Given the description of an element on the screen output the (x, y) to click on. 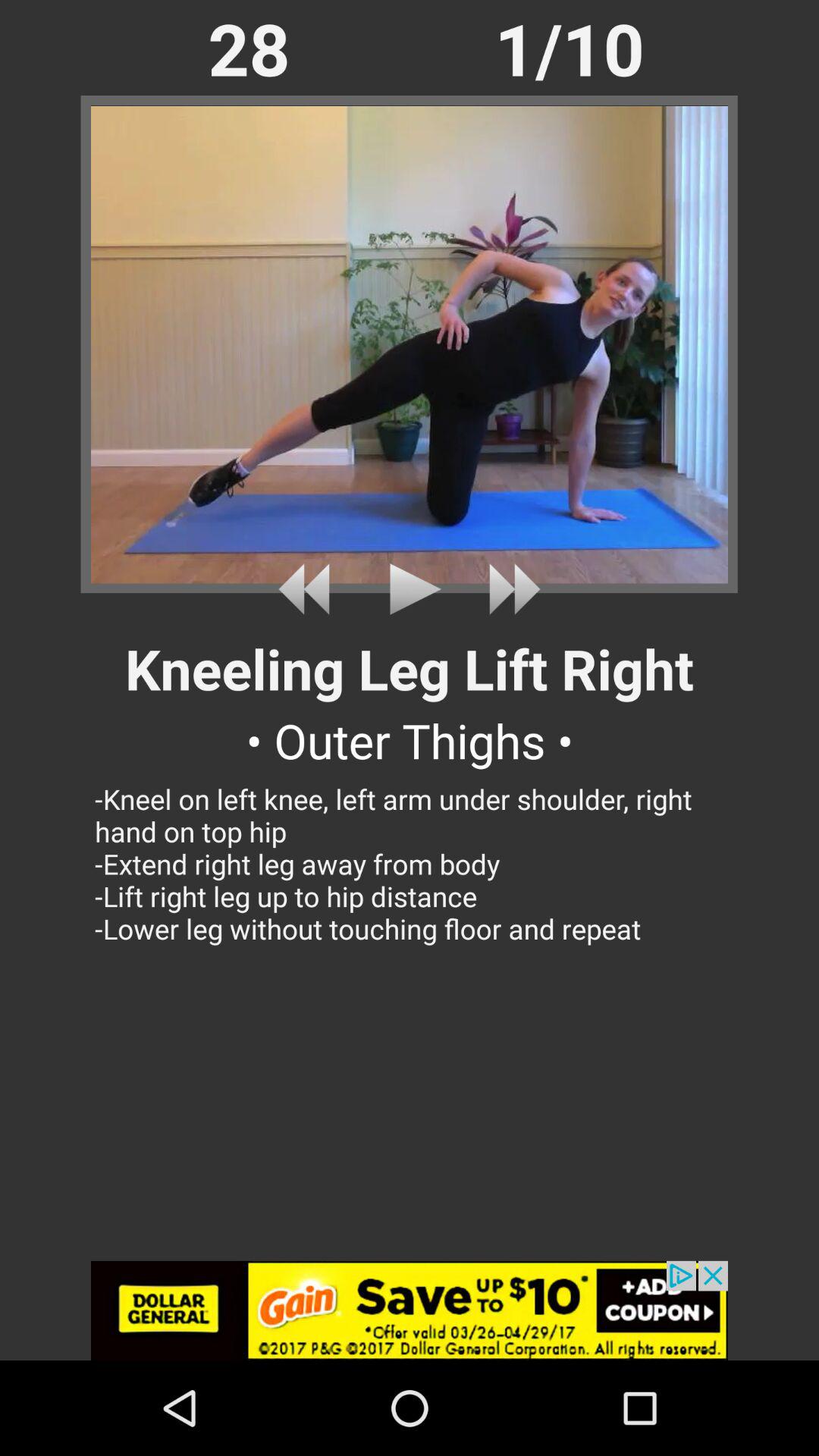
selected advertisement (409, 1310)
